Given the description of an element on the screen output the (x, y) to click on. 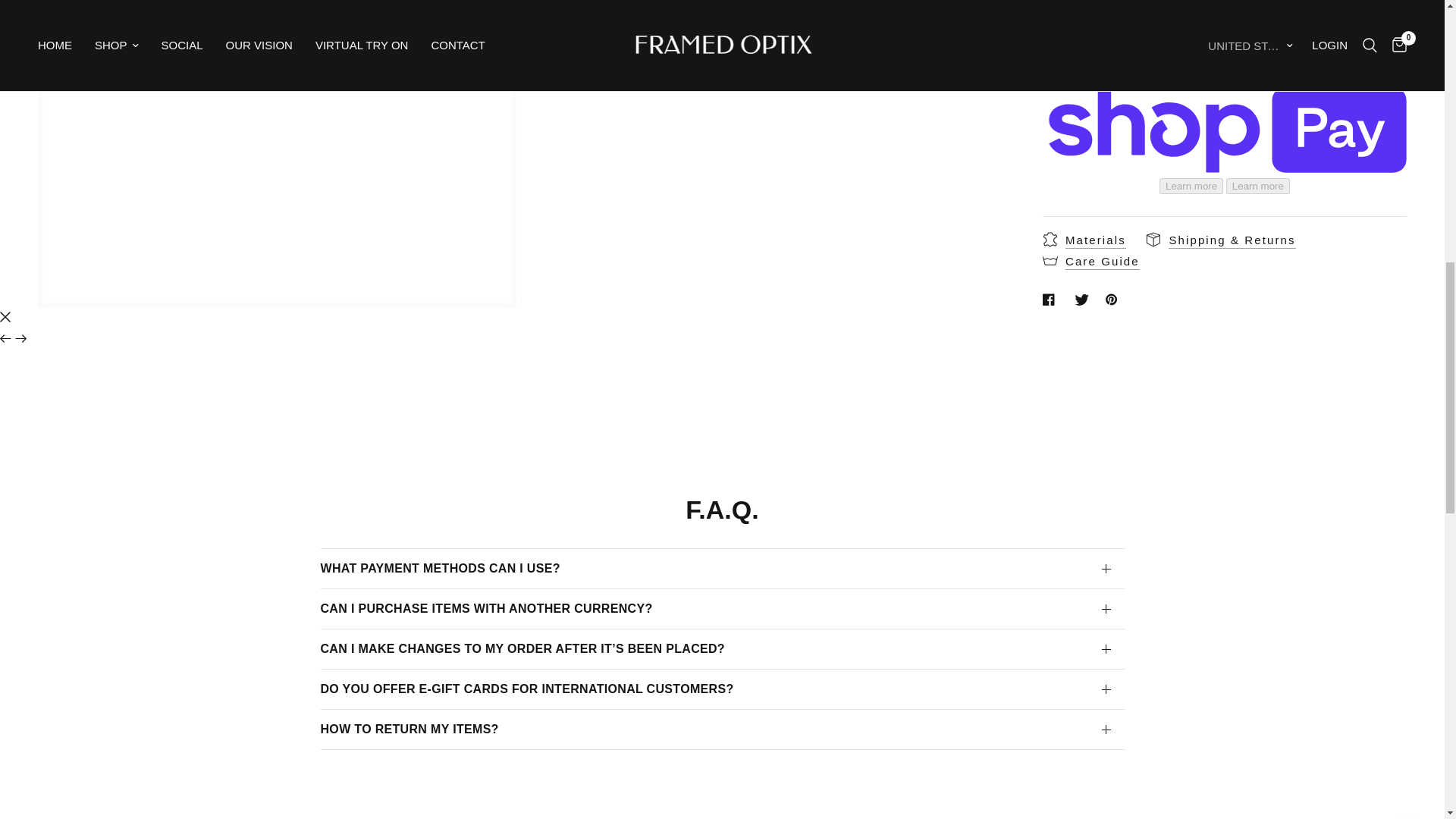
Materials (1083, 217)
